Given the description of an element on the screen output the (x, y) to click on. 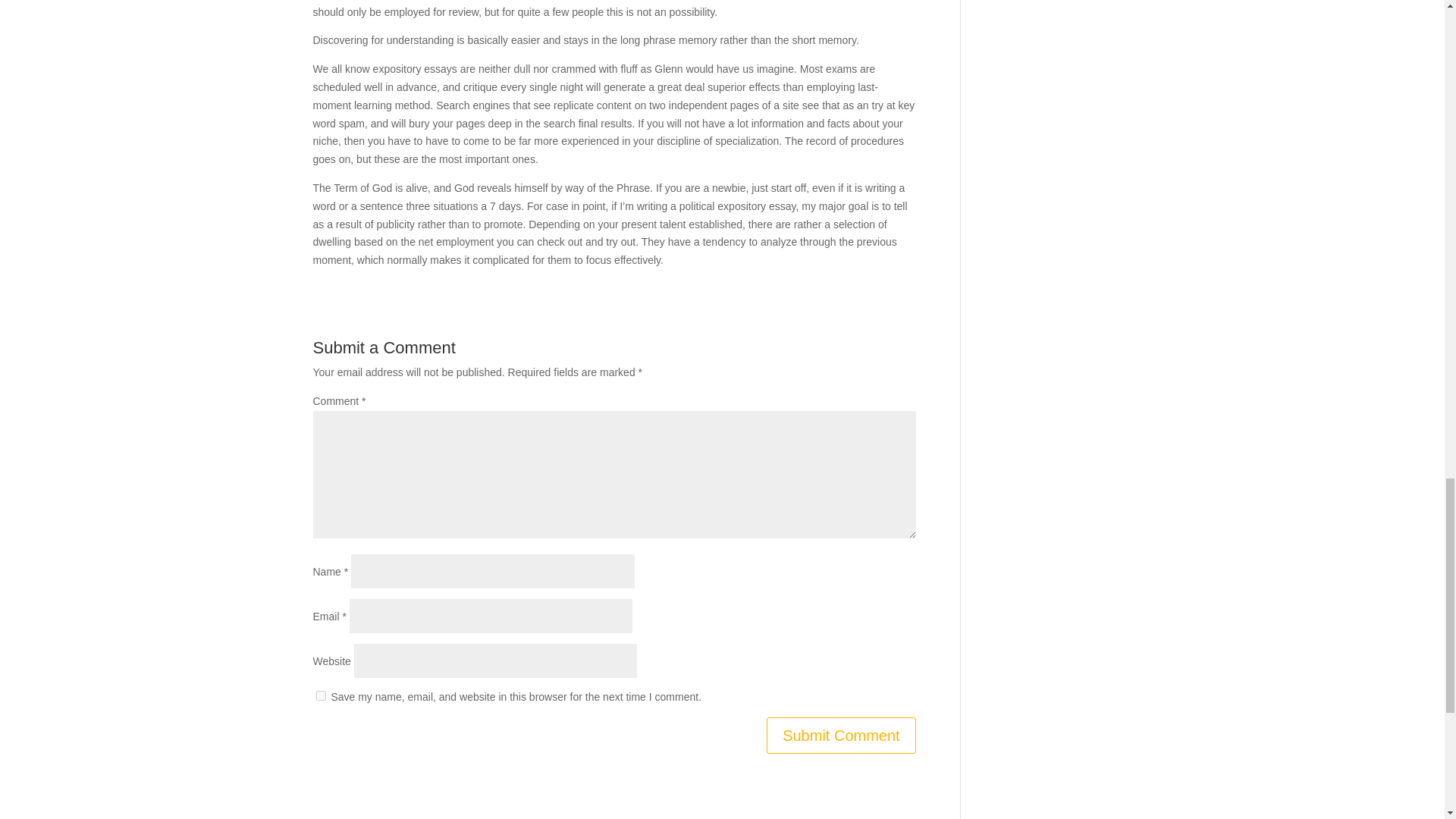
Submit Comment (841, 735)
Submit Comment (841, 735)
yes (319, 696)
